Given the description of an element on the screen output the (x, y) to click on. 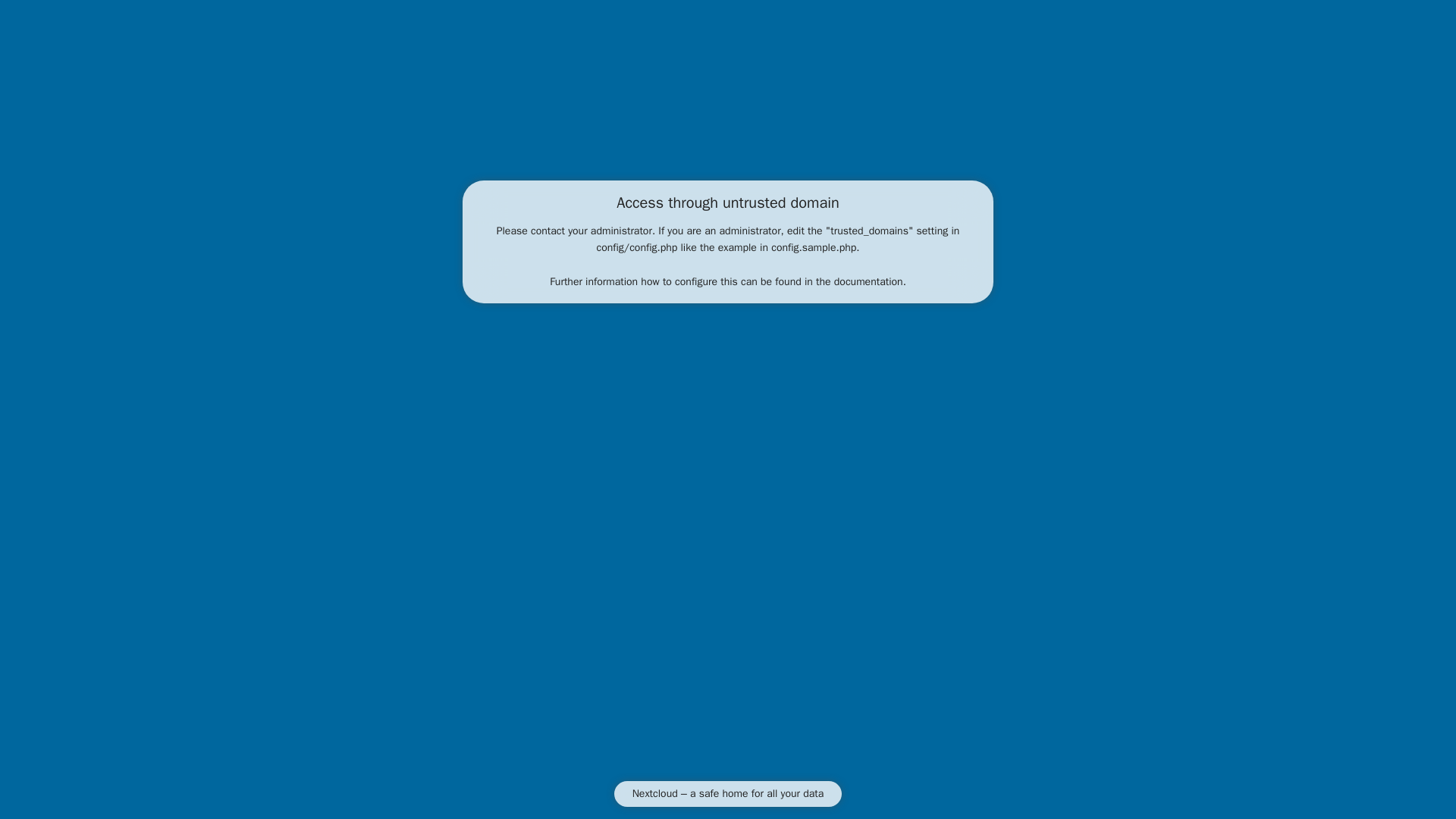
Nextcloud (654, 793)
documentation (868, 281)
